Given the description of an element on the screen output the (x, y) to click on. 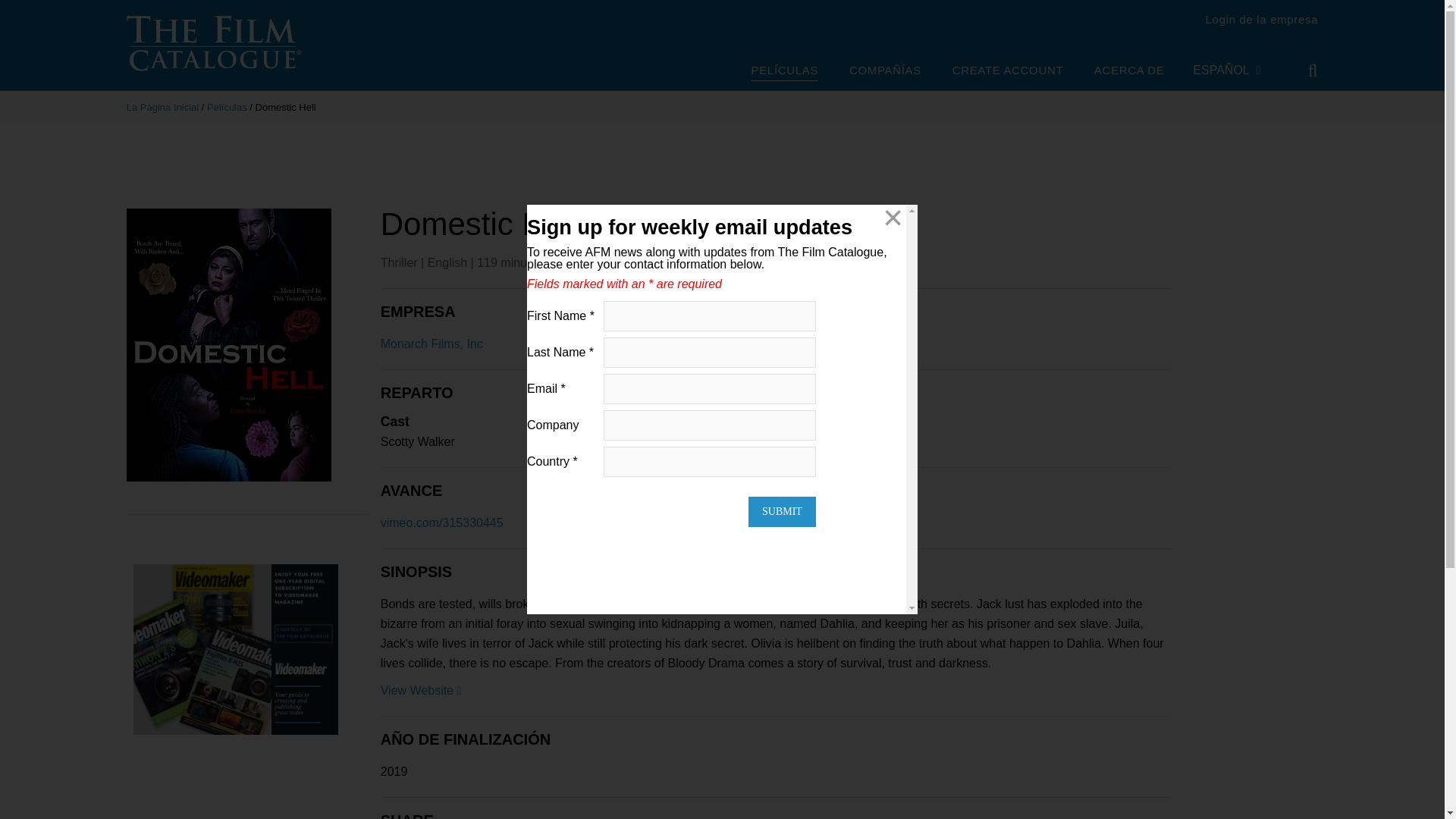
GO (1302, 70)
View Website (420, 689)
Monarch Films, Inc (431, 343)
CREATE ACCOUNT (1007, 71)
Login de la empresa (1262, 19)
GO (1302, 70)
GO (1302, 70)
ACERCA DE (1129, 71)
